Given the description of an element on the screen output the (x, y) to click on. 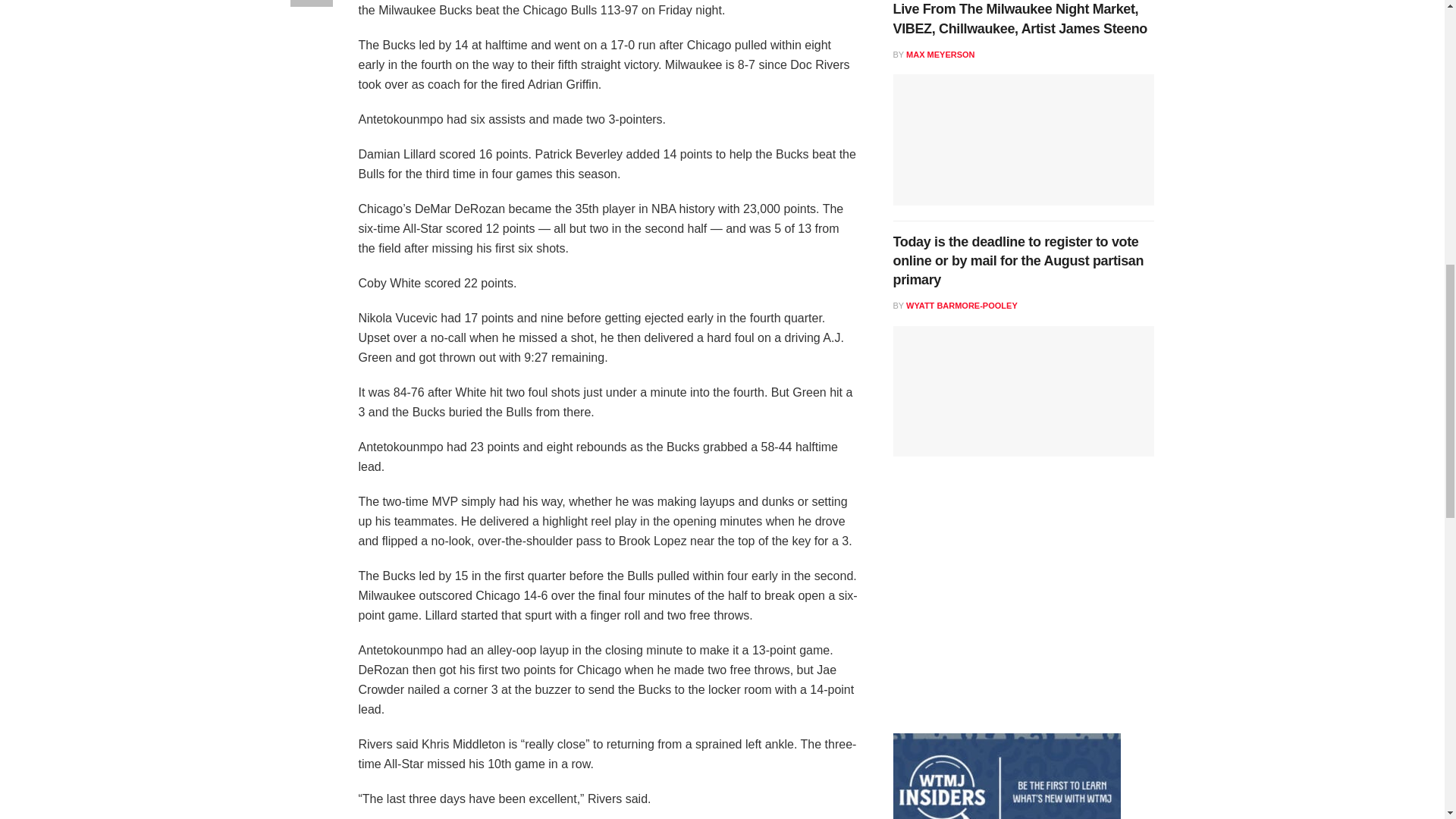
3rd party ad content (1007, 607)
